Given the description of an element on the screen output the (x, y) to click on. 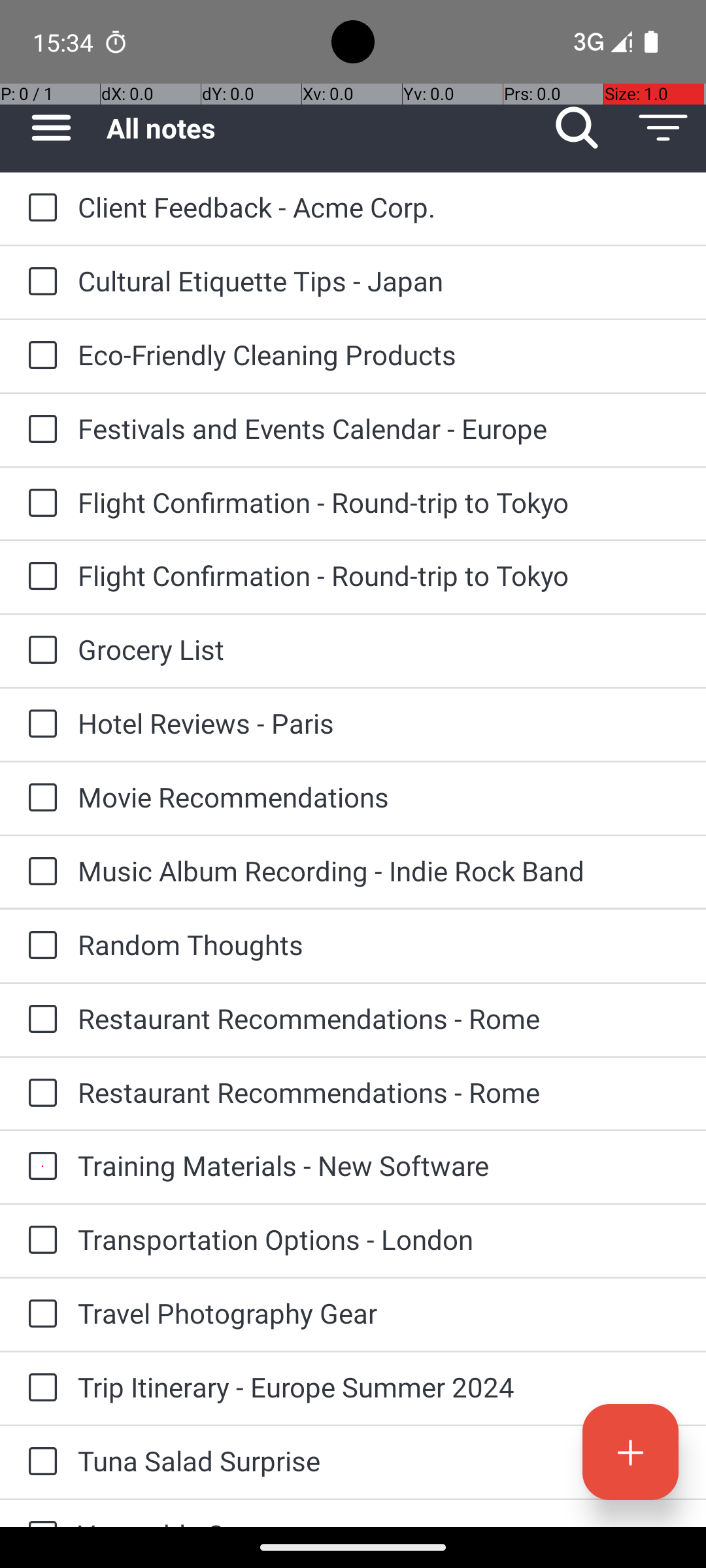
to-do: Client Feedback - Acme Corp. Element type: android.widget.CheckBox (38, 208)
Client Feedback - Acme Corp. Element type: android.widget.TextView (378, 206)
to-do: Cultural Etiquette Tips - Japan Element type: android.widget.CheckBox (38, 282)
Cultural Etiquette Tips - Japan Element type: android.widget.TextView (378, 280)
to-do: Eco-Friendly Cleaning Products Element type: android.widget.CheckBox (38, 356)
to-do: Festivals and Events Calendar - Europe Element type: android.widget.CheckBox (38, 429)
Festivals and Events Calendar - Europe Element type: android.widget.TextView (378, 427)
to-do: Flight Confirmation - Round-trip to Tokyo Element type: android.widget.CheckBox (38, 503)
to-do: Hotel Reviews - Paris Element type: android.widget.CheckBox (38, 724)
Hotel Reviews - Paris Element type: android.widget.TextView (378, 722)
to-do: Movie Recommendations Element type: android.widget.CheckBox (38, 798)
Movie Recommendations Element type: android.widget.TextView (378, 796)
to-do: Random Thoughts Element type: android.widget.CheckBox (38, 945)
Random Thoughts Element type: android.widget.TextView (378, 944)
to-do: Training Materials - New Software Element type: android.widget.CheckBox (38, 1166)
Training Materials - New Software Element type: android.widget.TextView (378, 1164)
to-do: Transportation Options - London Element type: android.widget.CheckBox (38, 1240)
Transportation Options - London Element type: android.widget.TextView (378, 1238)
to-do: Travel Photography Gear Element type: android.widget.CheckBox (38, 1314)
Travel Photography Gear Element type: android.widget.TextView (378, 1312)
to-do: Trip Itinerary - Europe Summer 2024 Element type: android.widget.CheckBox (38, 1388)
Trip Itinerary - Europe Summer 2024 Element type: android.widget.TextView (378, 1386)
to-do: Tuna Salad Surprise Element type: android.widget.CheckBox (38, 1462)
Tuna Salad Surprise Element type: android.widget.TextView (378, 1460)
to-do: Vegetable Curry Element type: android.widget.CheckBox (38, 1513)
Vegetable Curry Element type: android.widget.TextView (378, 1520)
